Given the description of an element on the screen output the (x, y) to click on. 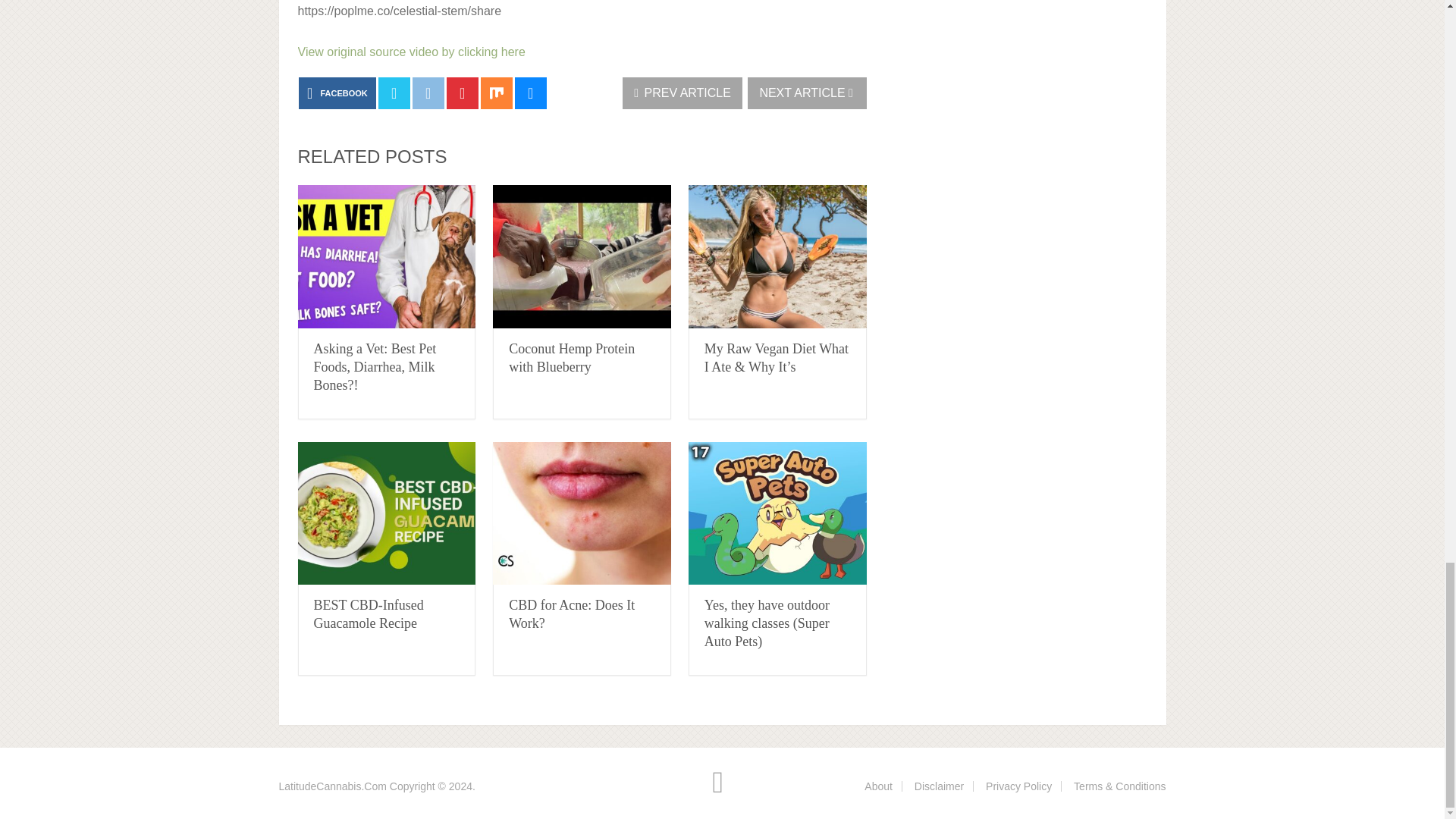
Asking a Vet: Best Pet Foods, Diarrhea, Milk Bones?! (375, 367)
BEST CBD-Infused Guacamole Recipe (368, 613)
View original source video by clicking here (410, 51)
PREV ARTICLE (682, 92)
Asking a Vet: Best Pet Foods, Diarrhea, Milk Bones?! (375, 367)
Asking a Vet: Best Pet Foods, Diarrhea, Milk Bones?! (386, 256)
NEXT ARTICLE (807, 92)
Coconut Hemp Protein with Blueberry (582, 256)
Coconut Hemp Protein with Blueberry (571, 357)
FACEBOOK (336, 92)
